Given the description of an element on the screen output the (x, y) to click on. 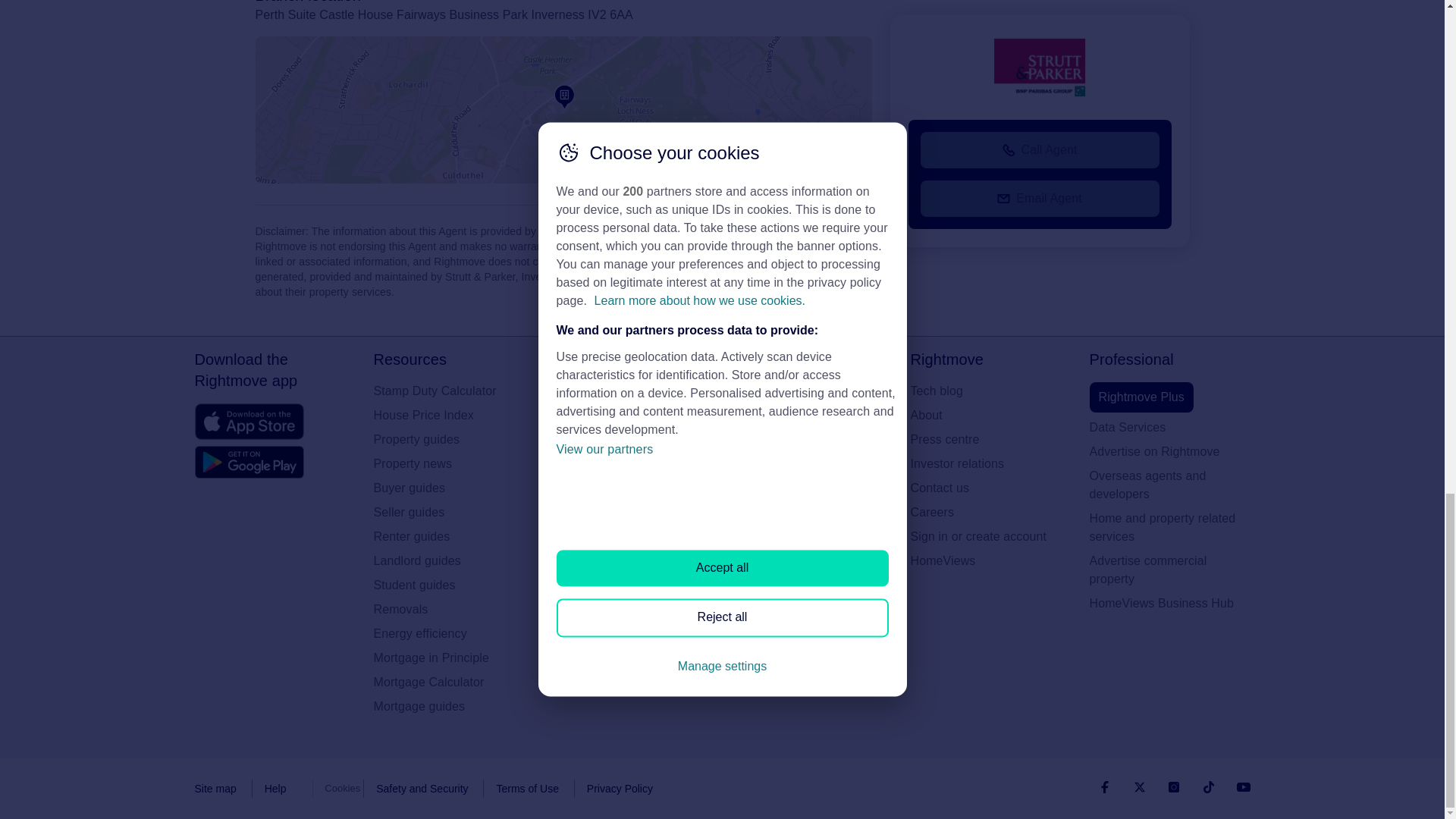
Landlord guides (453, 561)
Stamp duty calculator (453, 391)
Property guides (453, 439)
Search sold house prices (632, 512)
Renter guides (453, 536)
Search homes for rent (632, 415)
Student guides (453, 585)
House price index (453, 415)
Energy efficiency (453, 633)
Property news (453, 464)
Removals (453, 609)
Mortgage guides (453, 706)
Mortgage in Principle (453, 658)
Overseas homes for sale (632, 488)
Seller guides (453, 512)
